Given the description of an element on the screen output the (x, y) to click on. 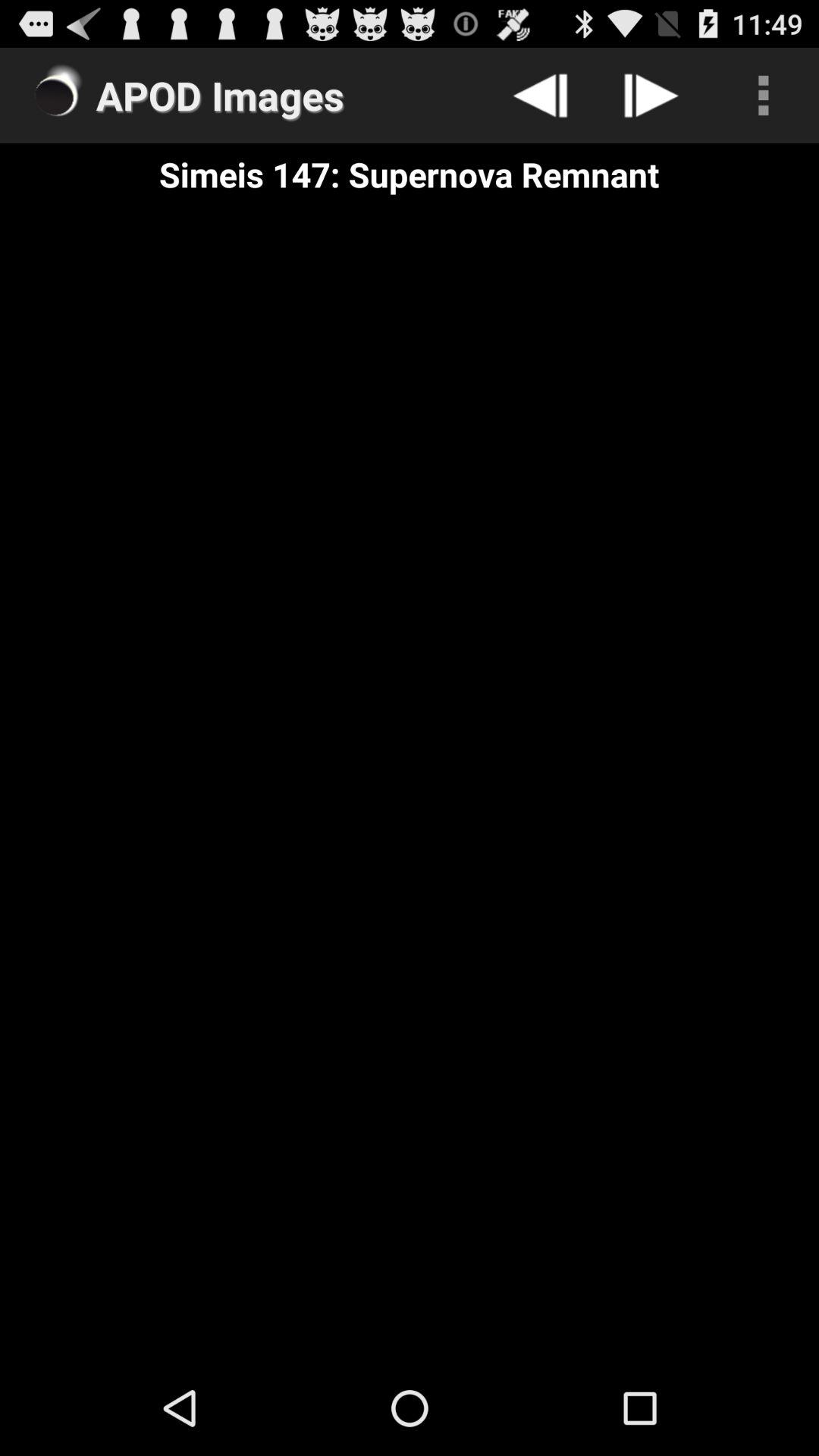
go back (540, 95)
